Given the description of an element on the screen output the (x, y) to click on. 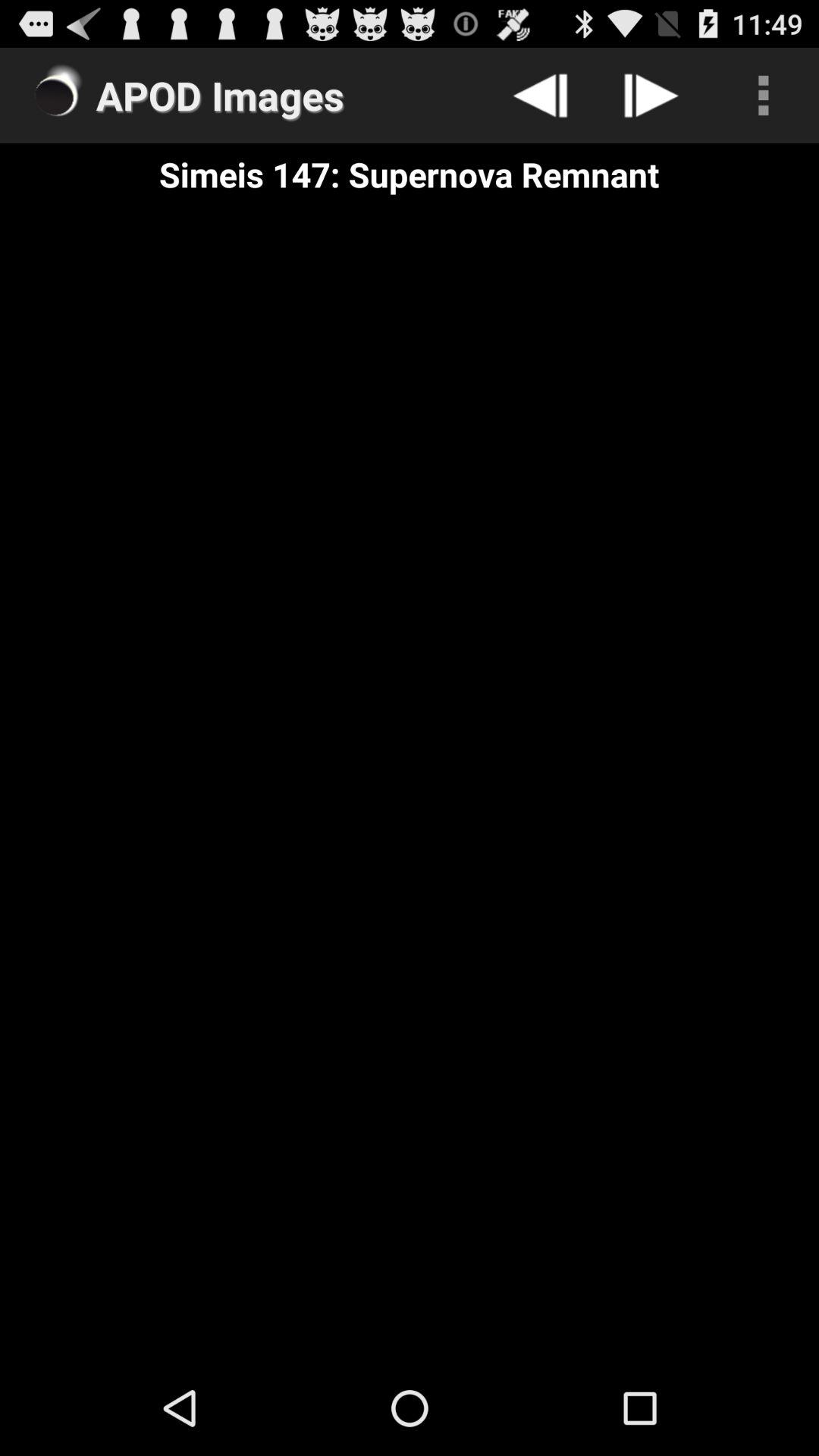
go back (540, 95)
